Given the description of an element on the screen output the (x, y) to click on. 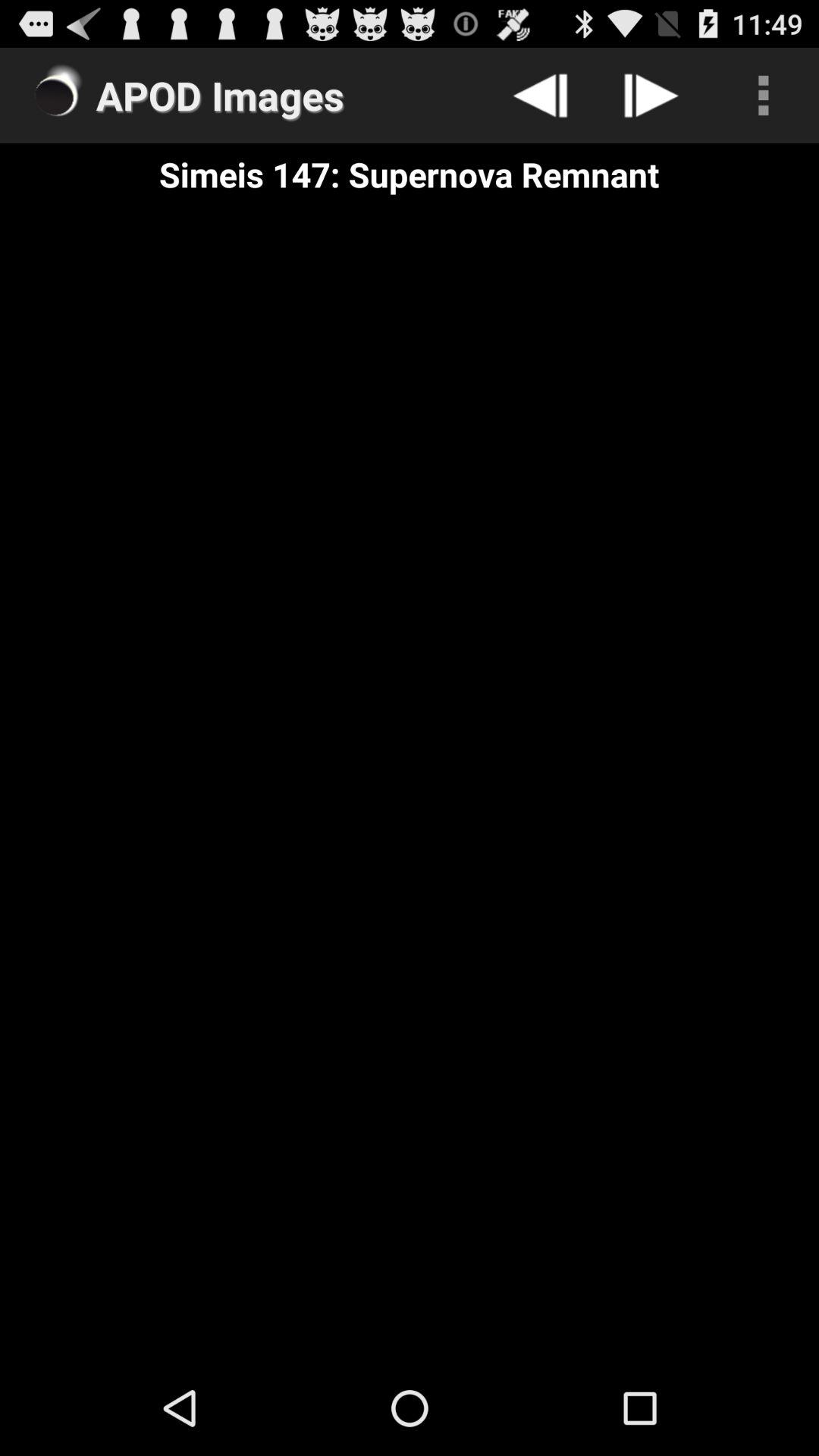
go back (540, 95)
